Given the description of an element on the screen output the (x, y) to click on. 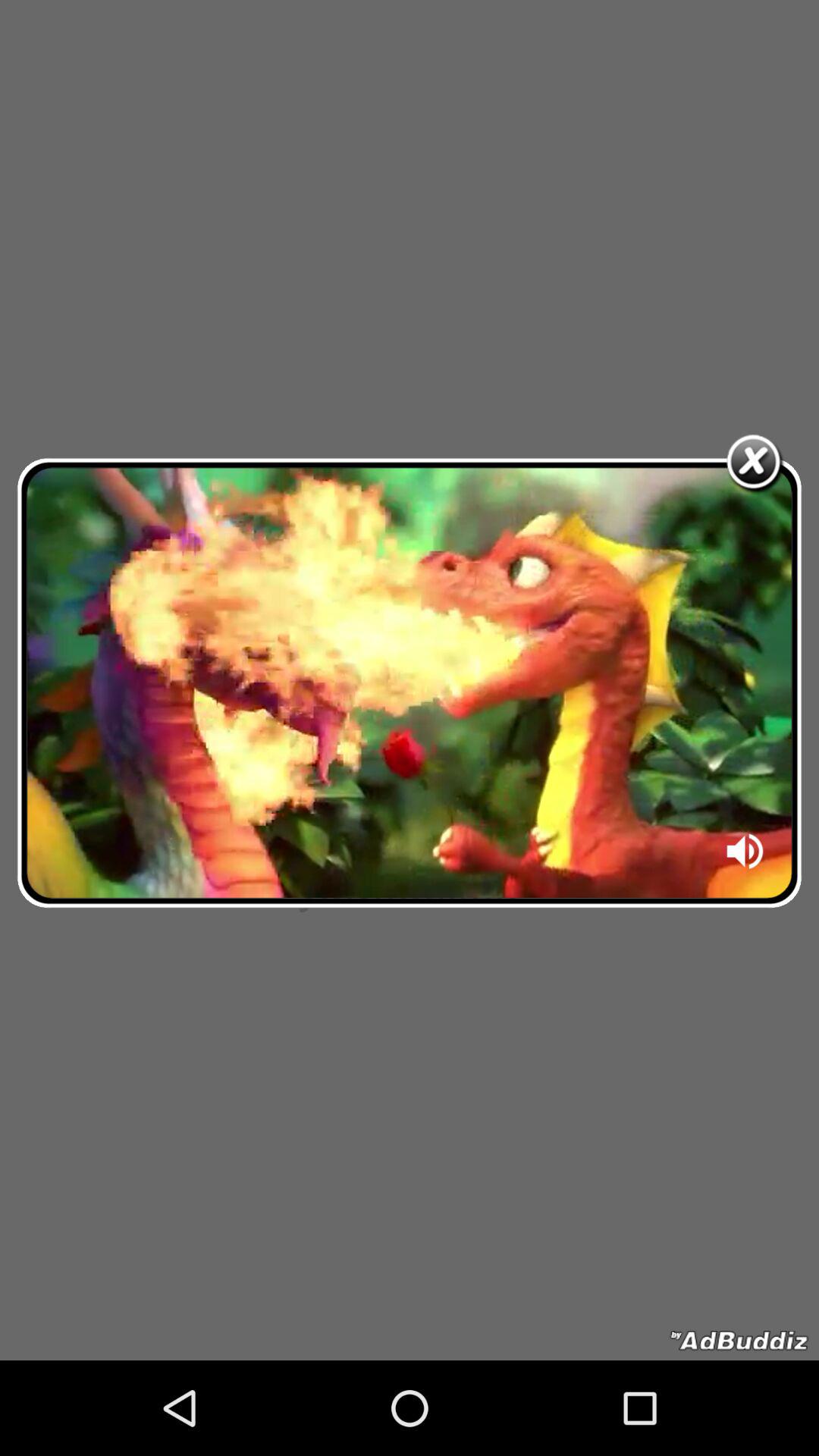
sount paga (745, 856)
